Given the description of an element on the screen output the (x, y) to click on. 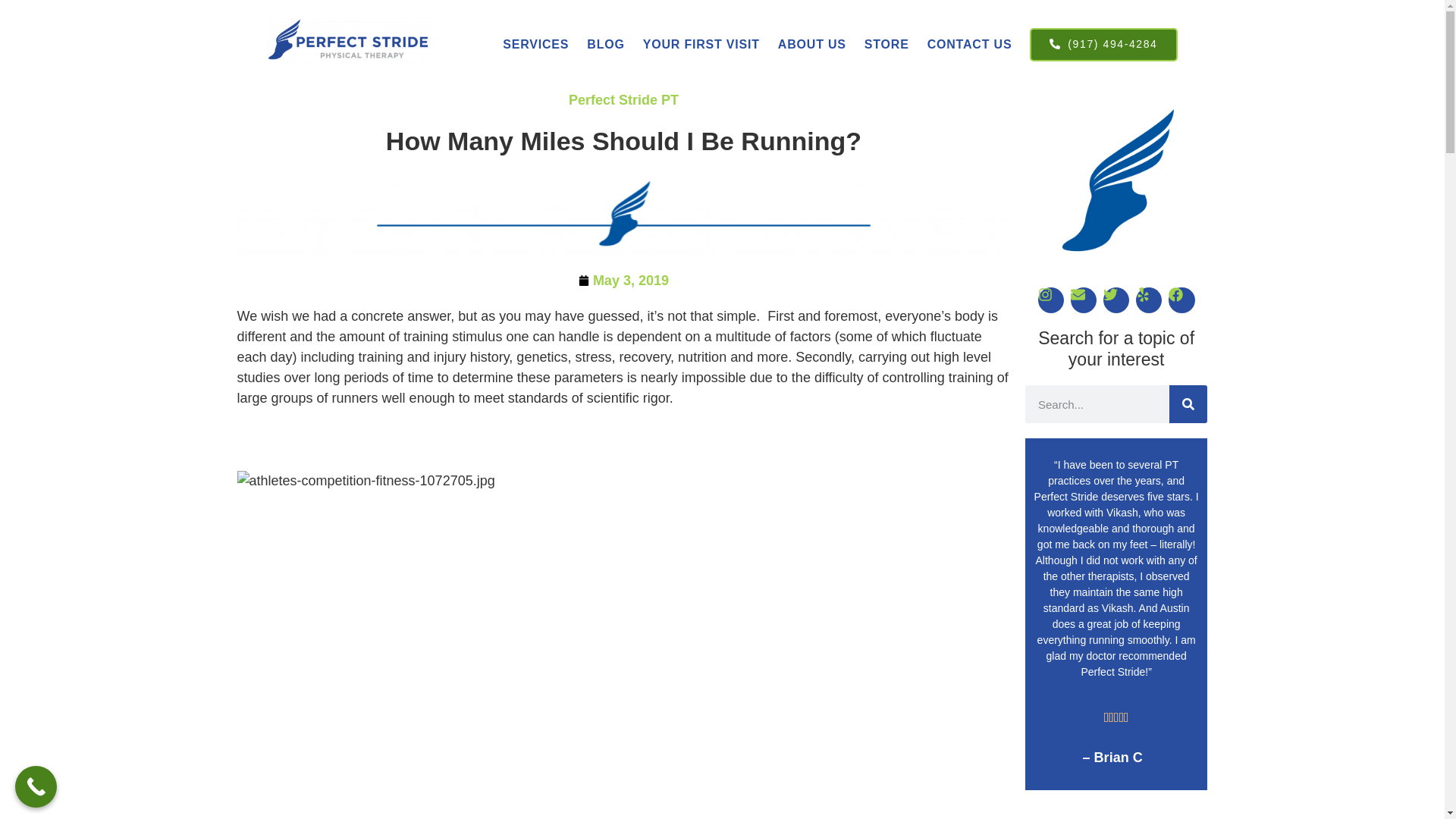
YOUR FIRST VISIT (700, 44)
SERVICES (535, 44)
ABOUT US (812, 44)
CONTACT US (970, 44)
BLOG (605, 44)
STORE (887, 44)
